Given the description of an element on the screen output the (x, y) to click on. 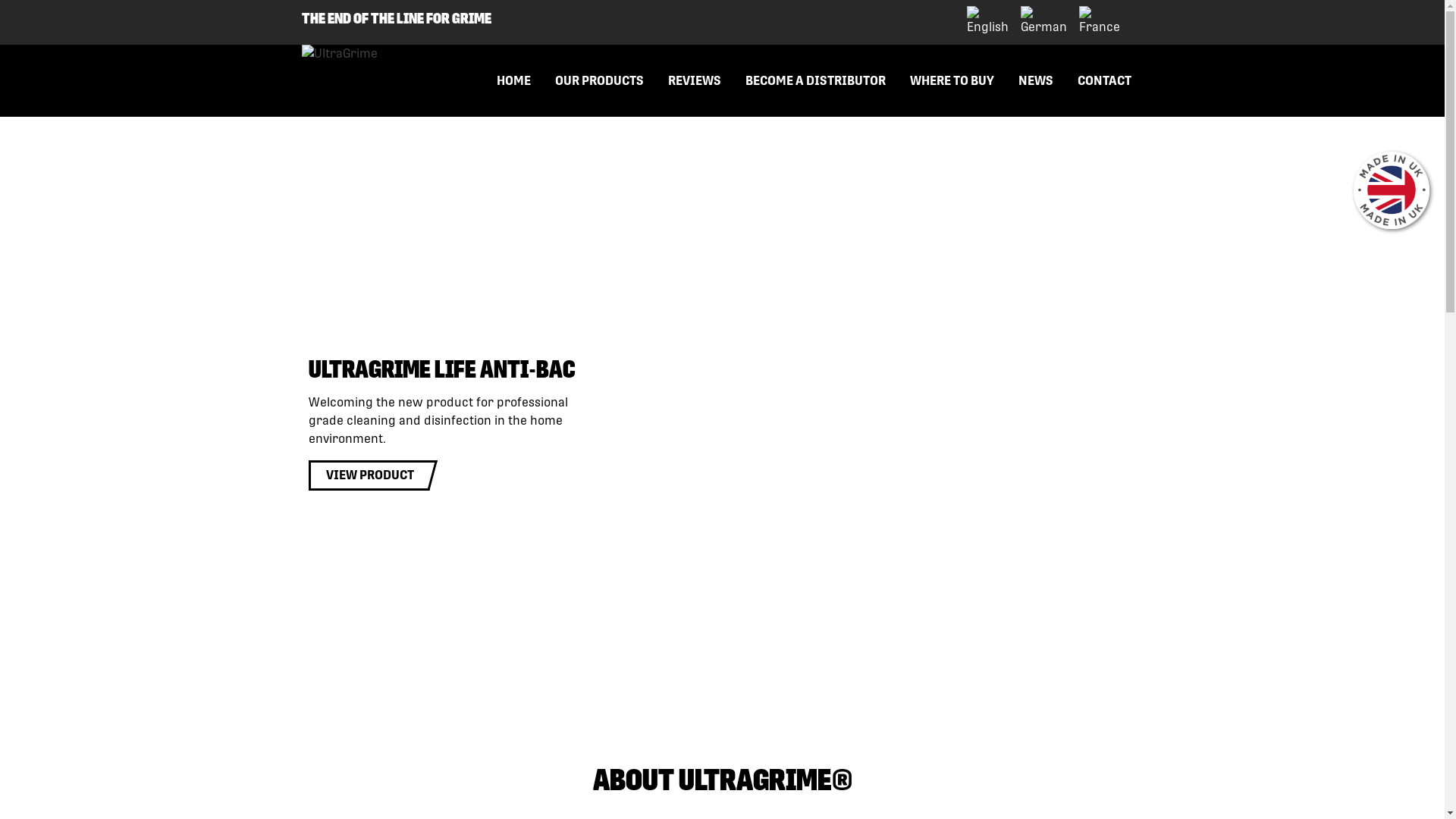
CONTACT Element type: text (1103, 80)
HOME Element type: text (512, 80)
OUR PRODUCTS Element type: text (598, 80)
ULTRAGRIME LIFE RANGE Element type: text (641, 487)
NEWS Element type: text (1034, 80)
BECOME A DISTRIBUTOR Element type: text (814, 80)
WHERE TO BUY Element type: text (951, 80)
REVIEWS Element type: text (693, 80)
